Given the description of an element on the screen output the (x, y) to click on. 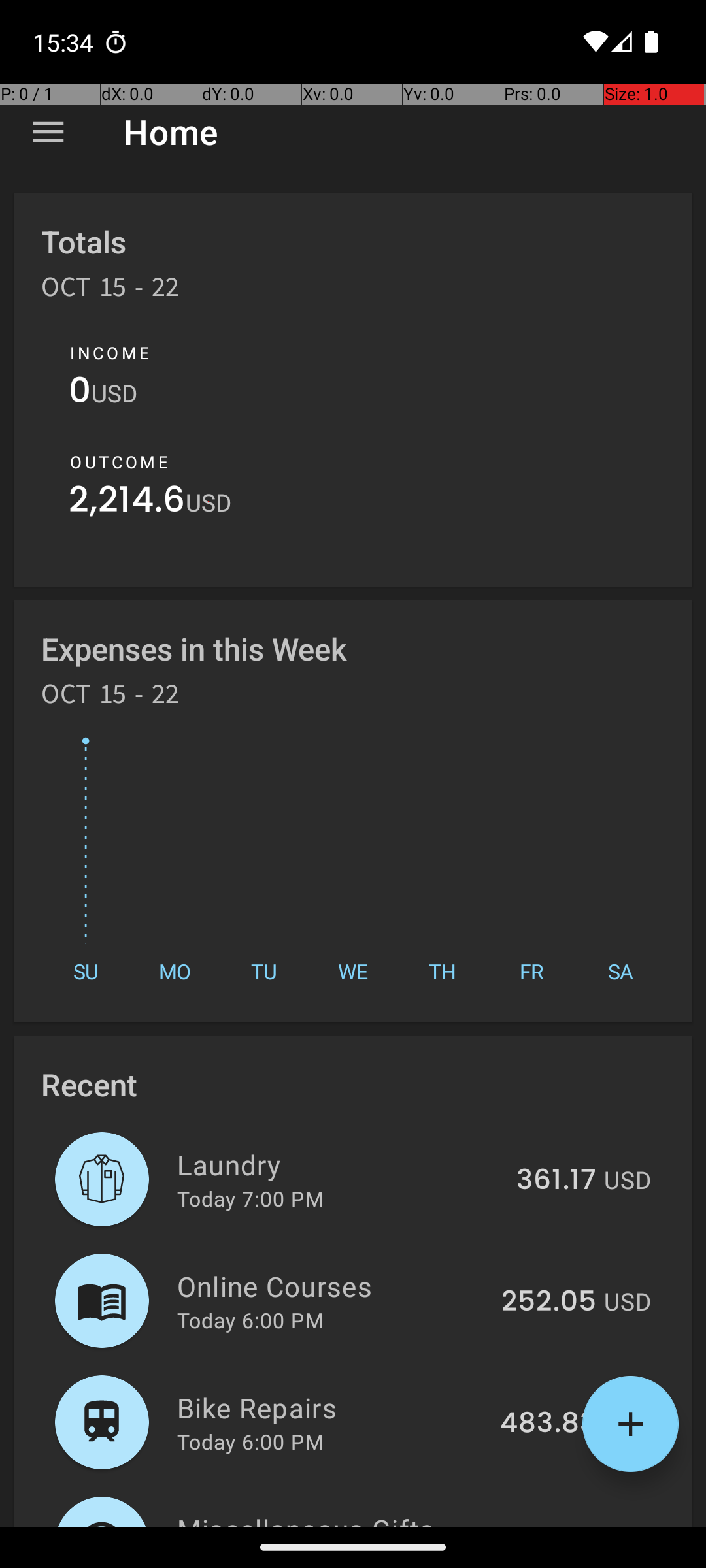
2,214.6 Element type: android.widget.TextView (126, 502)
361.17 Element type: android.widget.TextView (555, 1180)
Online Courses Element type: android.widget.TextView (331, 1285)
252.05 Element type: android.widget.TextView (548, 1301)
483.83 Element type: android.widget.TextView (547, 1423)
Miscellaneous Gifts Element type: android.widget.TextView (334, 1518)
182.85 Element type: android.widget.TextView (551, 1524)
